Given the description of an element on the screen output the (x, y) to click on. 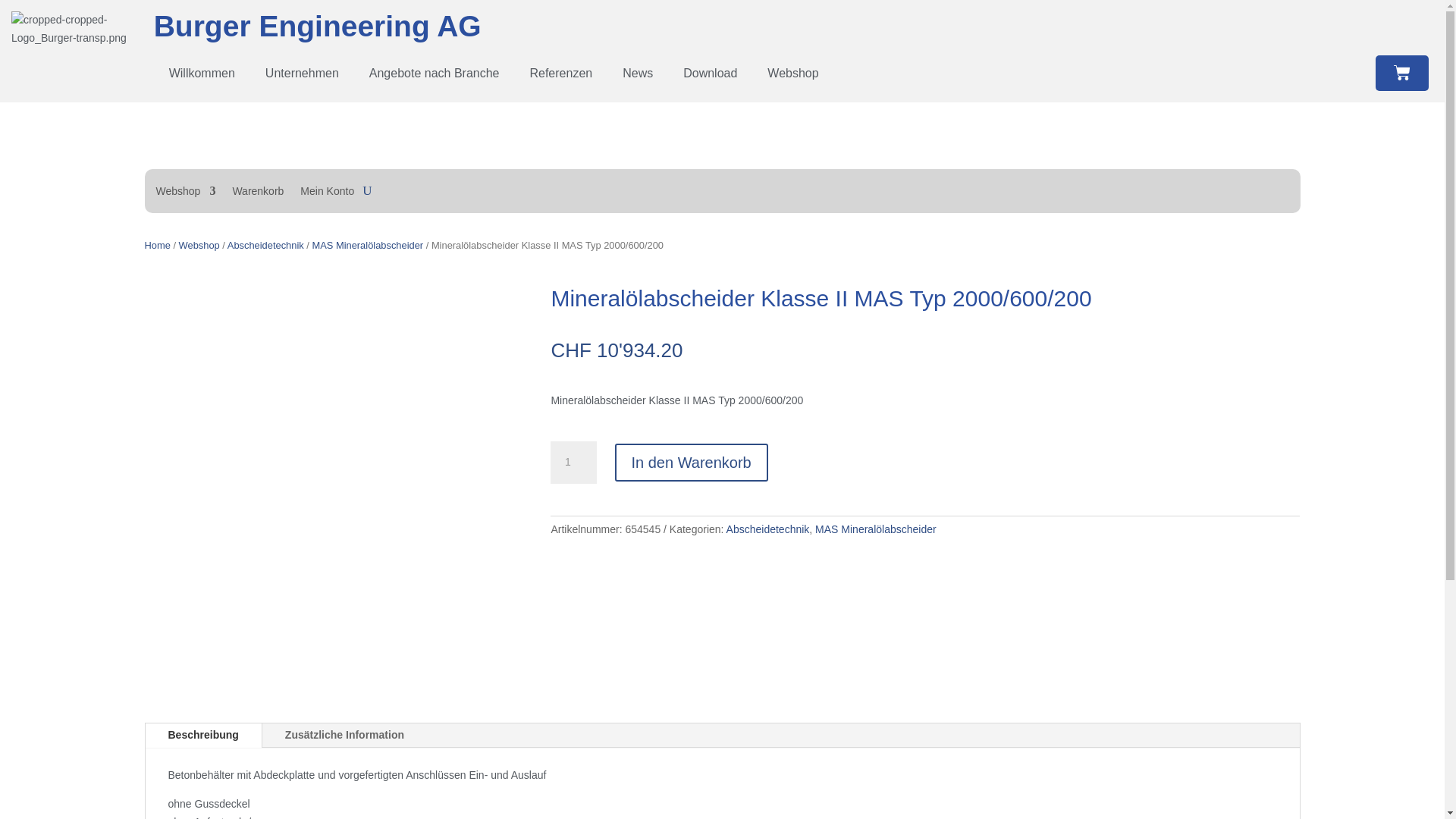
In den Warenkorb Element type: text (690, 462)
Download Element type: text (710, 73)
Abscheidetechnik Element type: text (265, 245)
Webshop Element type: text (186, 193)
Willkommen Element type: text (201, 73)
Beschreibung Element type: text (203, 735)
Mein Konto Element type: text (327, 193)
cropped-cropped-Logo_Burger-transp.png Element type: hover (78, 29)
Warenkorb Element type: text (257, 193)
Webshop Element type: text (792, 73)
Unternehmen Element type: text (302, 73)
Home Element type: text (156, 245)
News Element type: text (637, 73)
Abscheidetechnik Element type: text (767, 529)
Webshop Element type: text (198, 245)
Referenzen Element type: text (560, 73)
Angebote nach Branche Element type: text (434, 73)
